Given the description of an element on the screen output the (x, y) to click on. 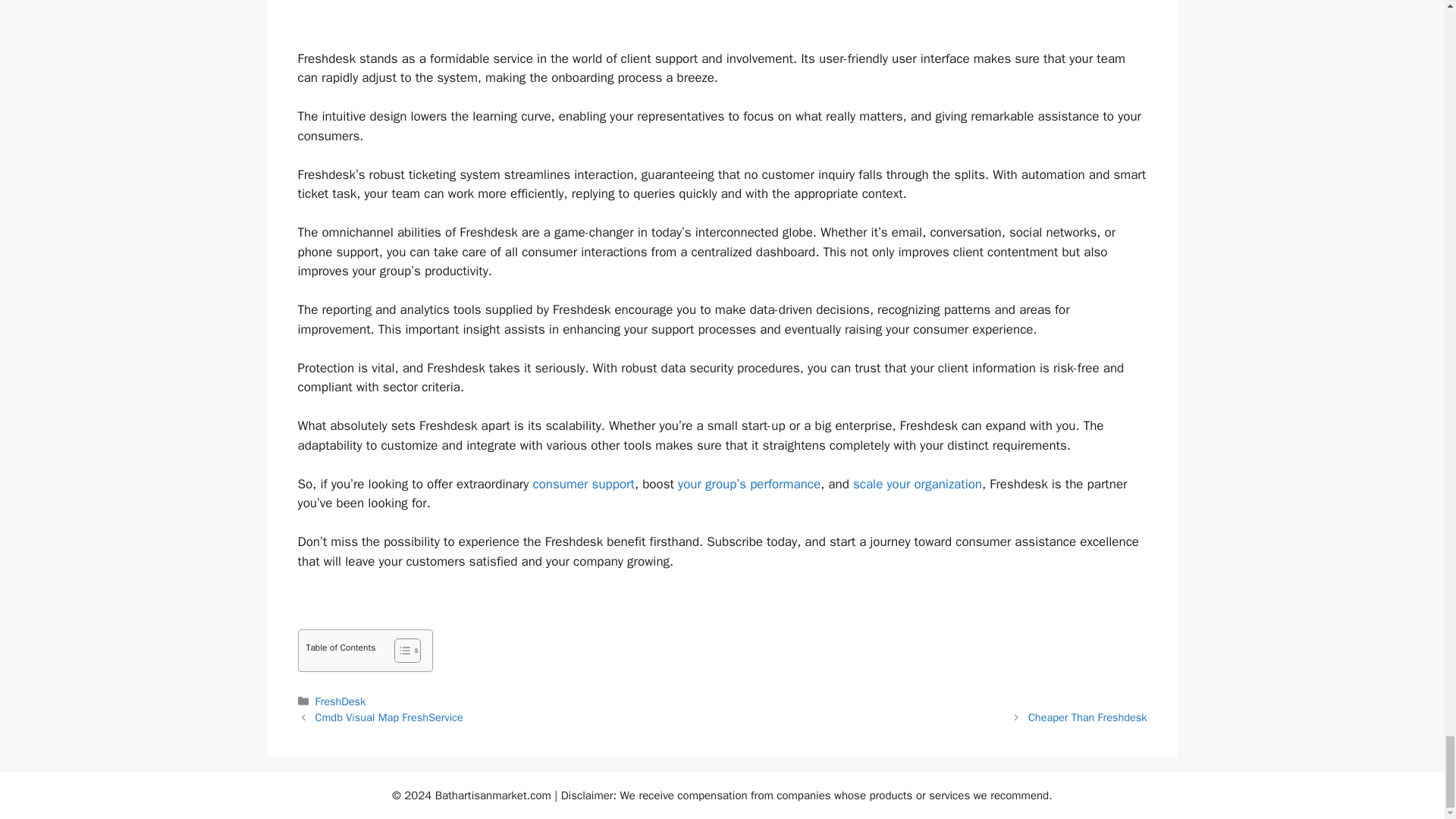
scale your organization (917, 483)
FreshDesk (340, 701)
consumer support (583, 483)
Cheaper Than Freshdesk (1087, 716)
Cmdb Visual Map FreshService (389, 716)
